Given the description of an element on the screen output the (x, y) to click on. 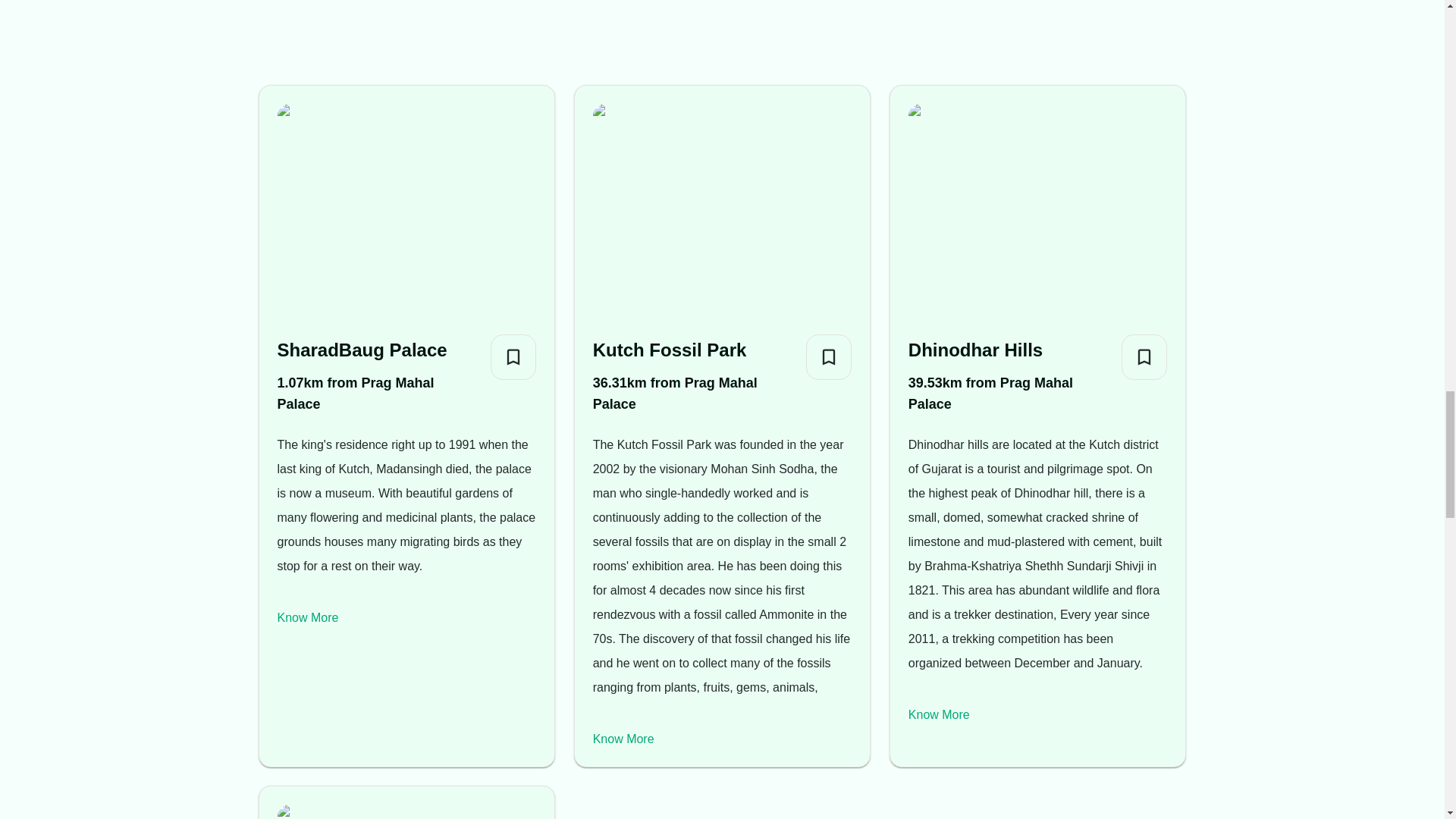
Add to Bucket List (512, 357)
SharadBaug Palace (378, 350)
Add to Bucket List (1144, 357)
Know More (308, 617)
Add to Bucket List (828, 357)
